Given the description of an element on the screen output the (x, y) to click on. 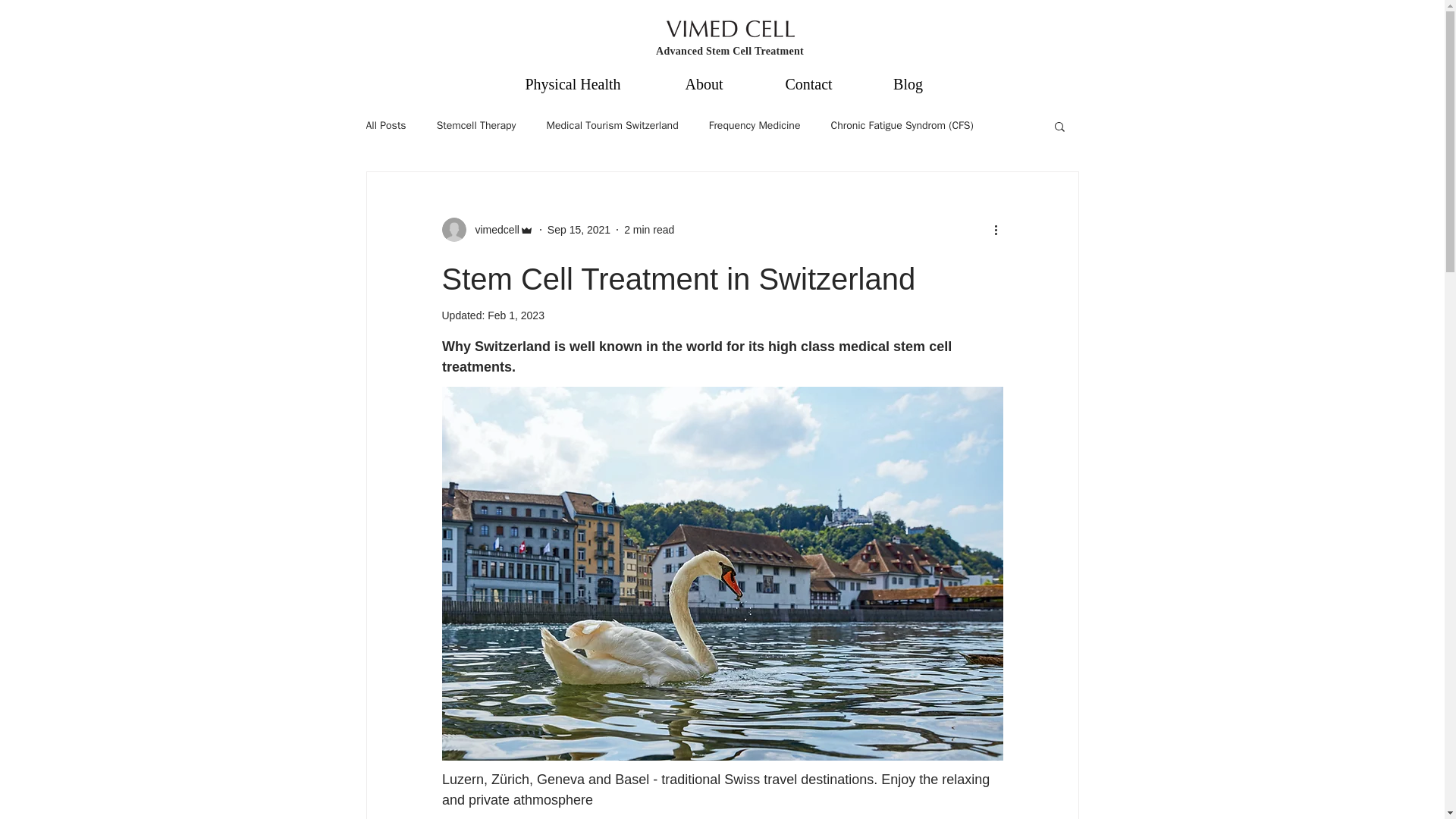
Sep 15, 2021 (578, 228)
2 min read (649, 228)
Medical Tourism Switzerland (612, 125)
About (702, 84)
vimedcell (486, 229)
vimedcell (491, 229)
Blog (907, 84)
Advanced Stem Cell Treatment (729, 50)
Frequency Medicine (754, 125)
Contact (808, 84)
Stemcell Therapy (476, 125)
Feb 1, 2023 (515, 315)
Physical Health (572, 84)
All Posts (385, 125)
